Given the description of an element on the screen output the (x, y) to click on. 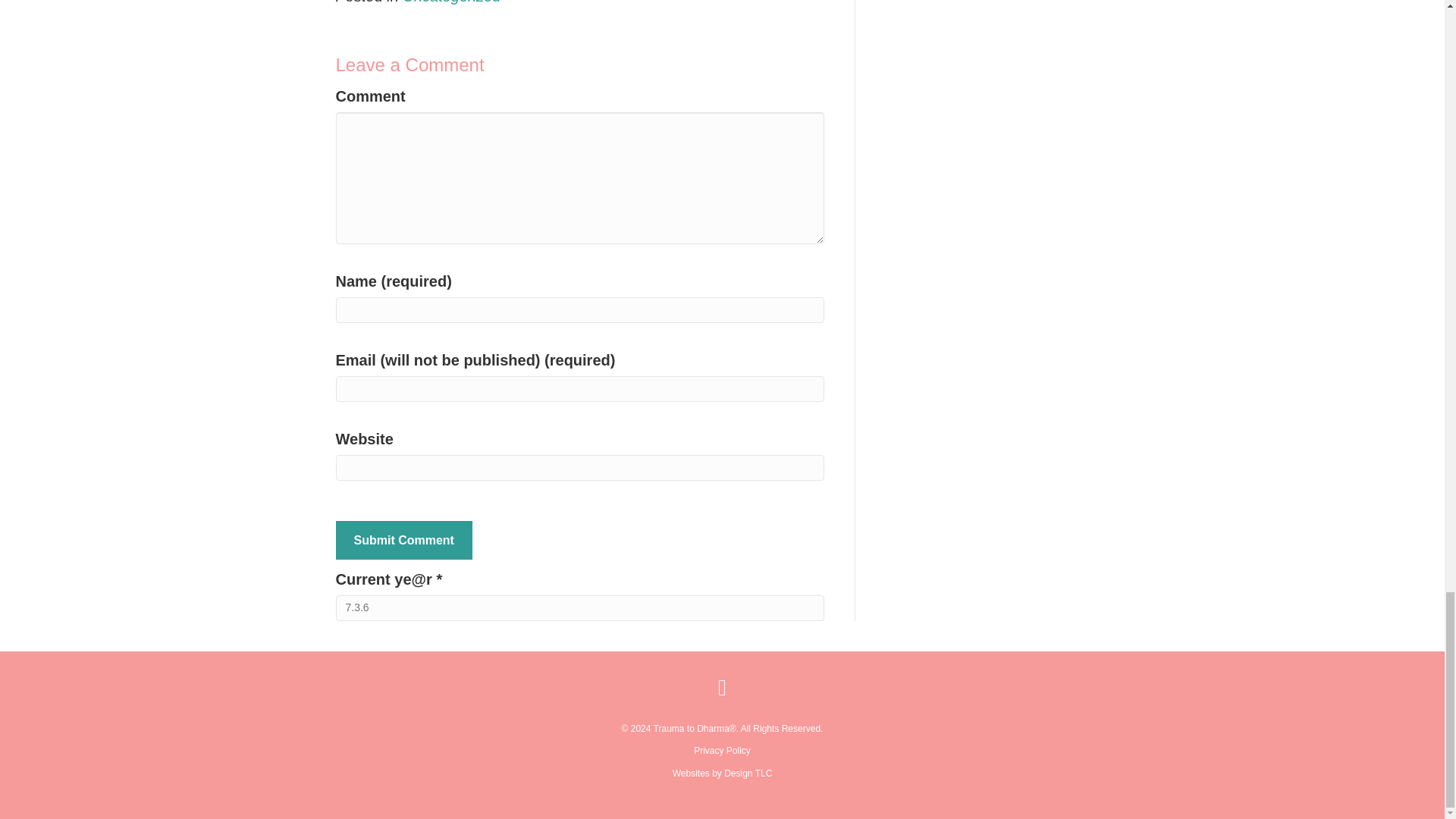
7.3.6 (579, 607)
Submit Comment (402, 539)
Uncategorized (451, 2)
Submit Comment (402, 539)
